Given the description of an element on the screen output the (x, y) to click on. 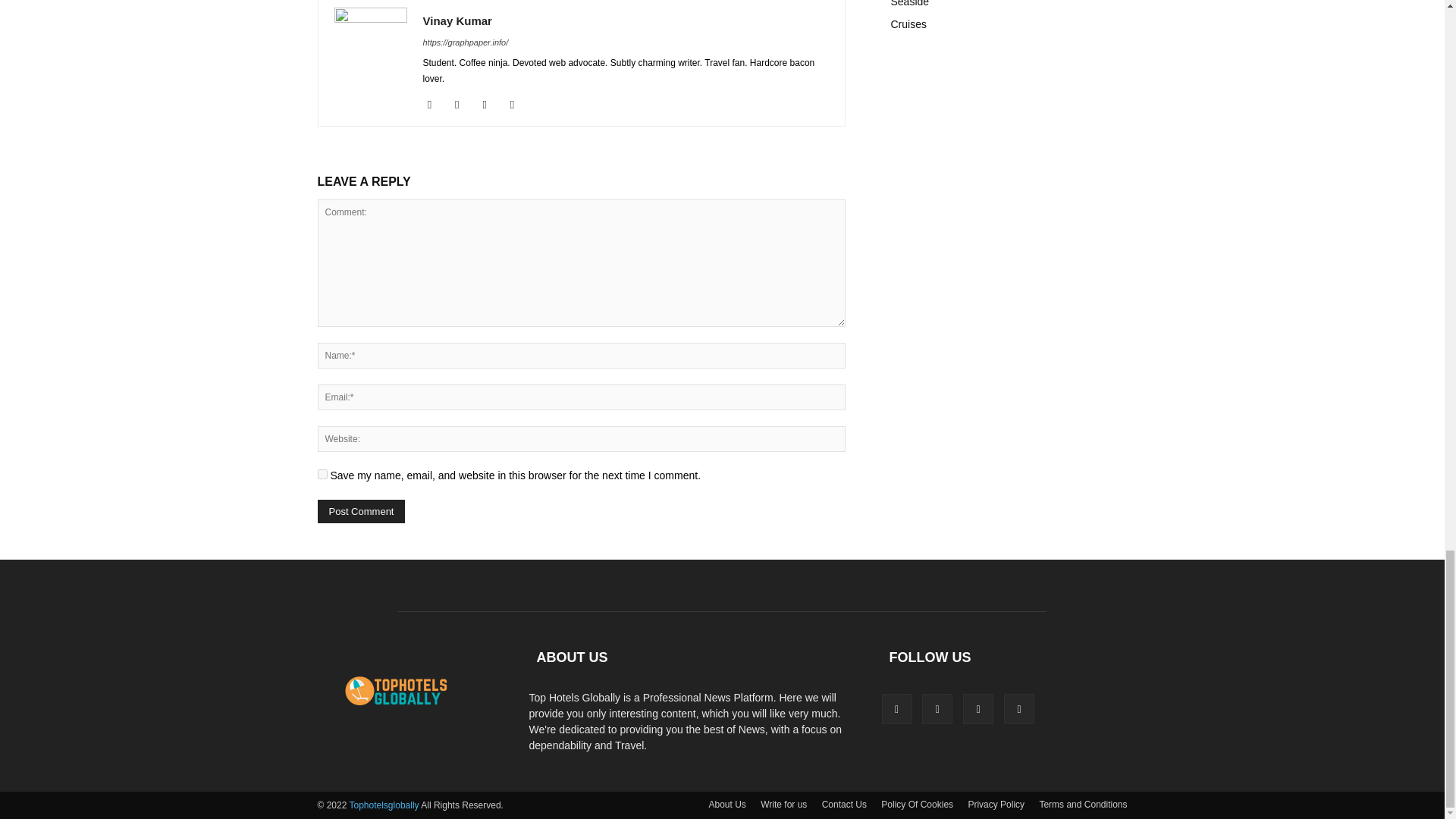
yes (321, 474)
Post Comment (360, 511)
Facebook (435, 104)
Twitter (518, 104)
Linkedin (462, 104)
Mail (489, 104)
